Given the description of an element on the screen output the (x, y) to click on. 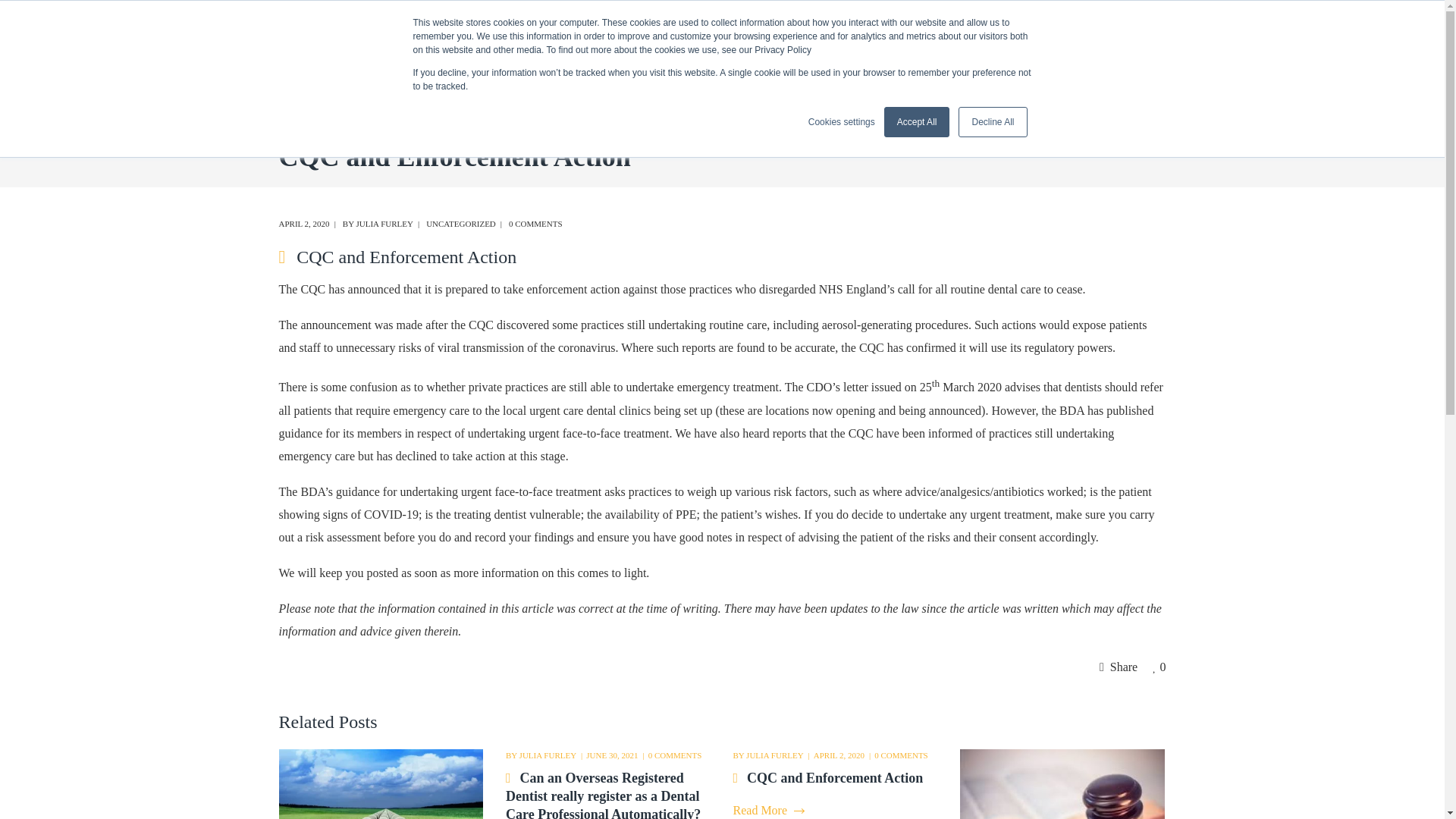
Accept All (916, 122)
Decline All (992, 122)
Cookies settings (841, 121)
